Given the description of an element on the screen output the (x, y) to click on. 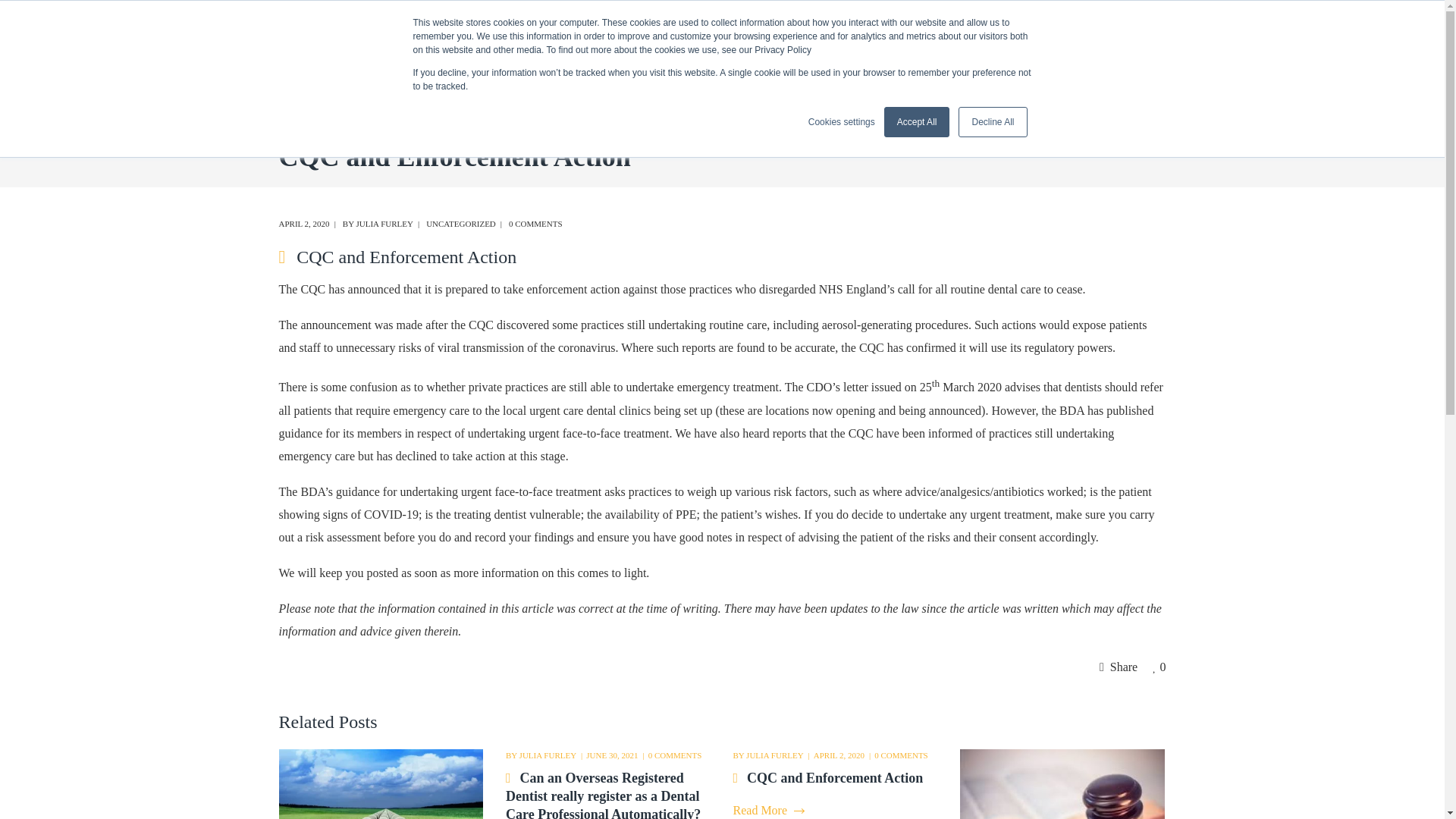
Accept All (916, 122)
Decline All (992, 122)
Cookies settings (841, 121)
